Given the description of an element on the screen output the (x, y) to click on. 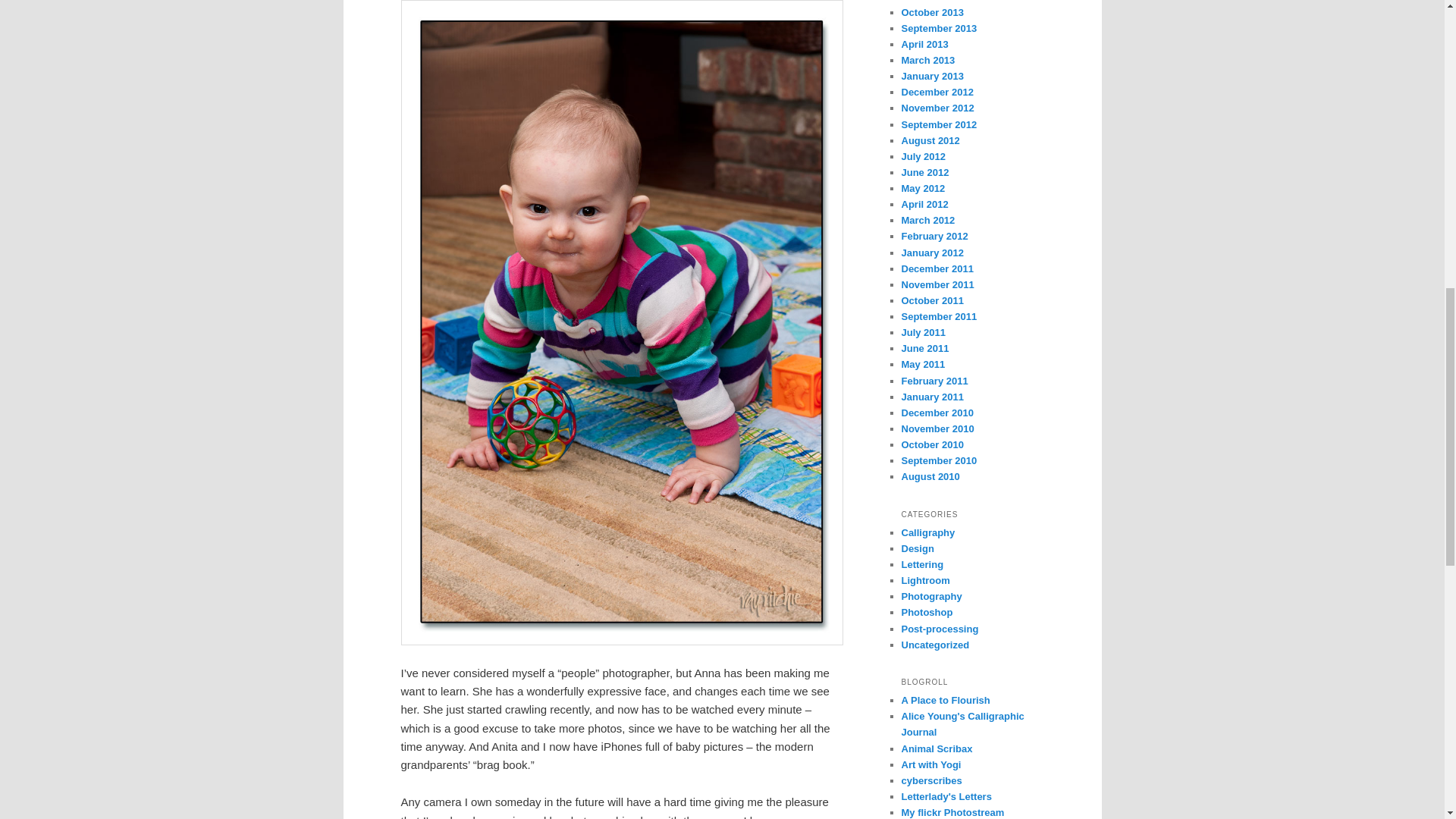
October 2013 (931, 12)
December 2013 (936, 1)
March 2013 (928, 60)
January 2013 (931, 75)
September 2013 (938, 28)
April 2013 (924, 43)
August 2012 (930, 140)
November 2012 (937, 107)
December 2012 (936, 91)
September 2012 (938, 124)
